Given the description of an element on the screen output the (x, y) to click on. 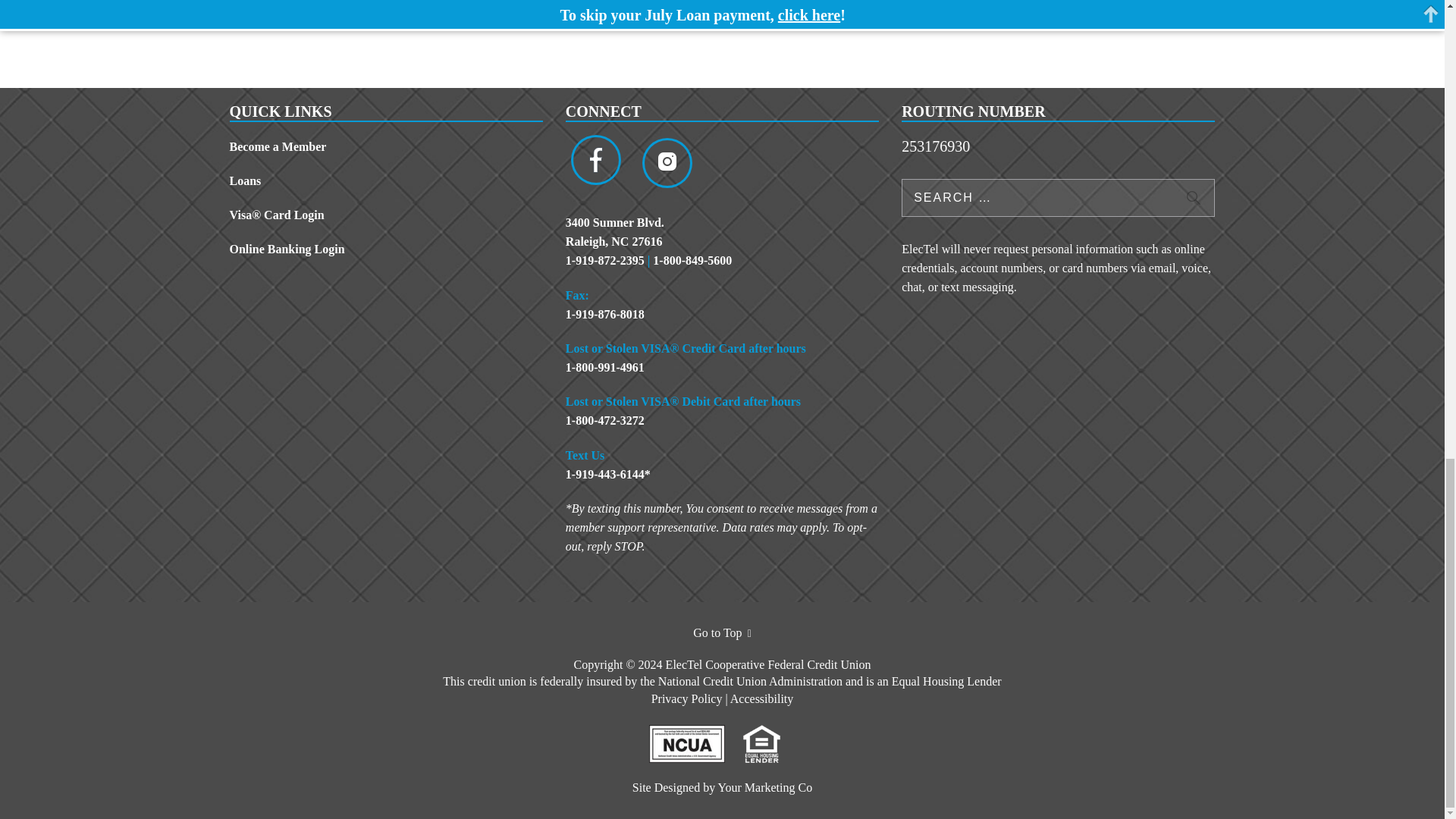
Equal Housing Opportunity Website (768, 732)
Search (1193, 197)
NCUA Website (694, 732)
uncommn (764, 787)
Search (1193, 197)
